Given the description of an element on the screen output the (x, y) to click on. 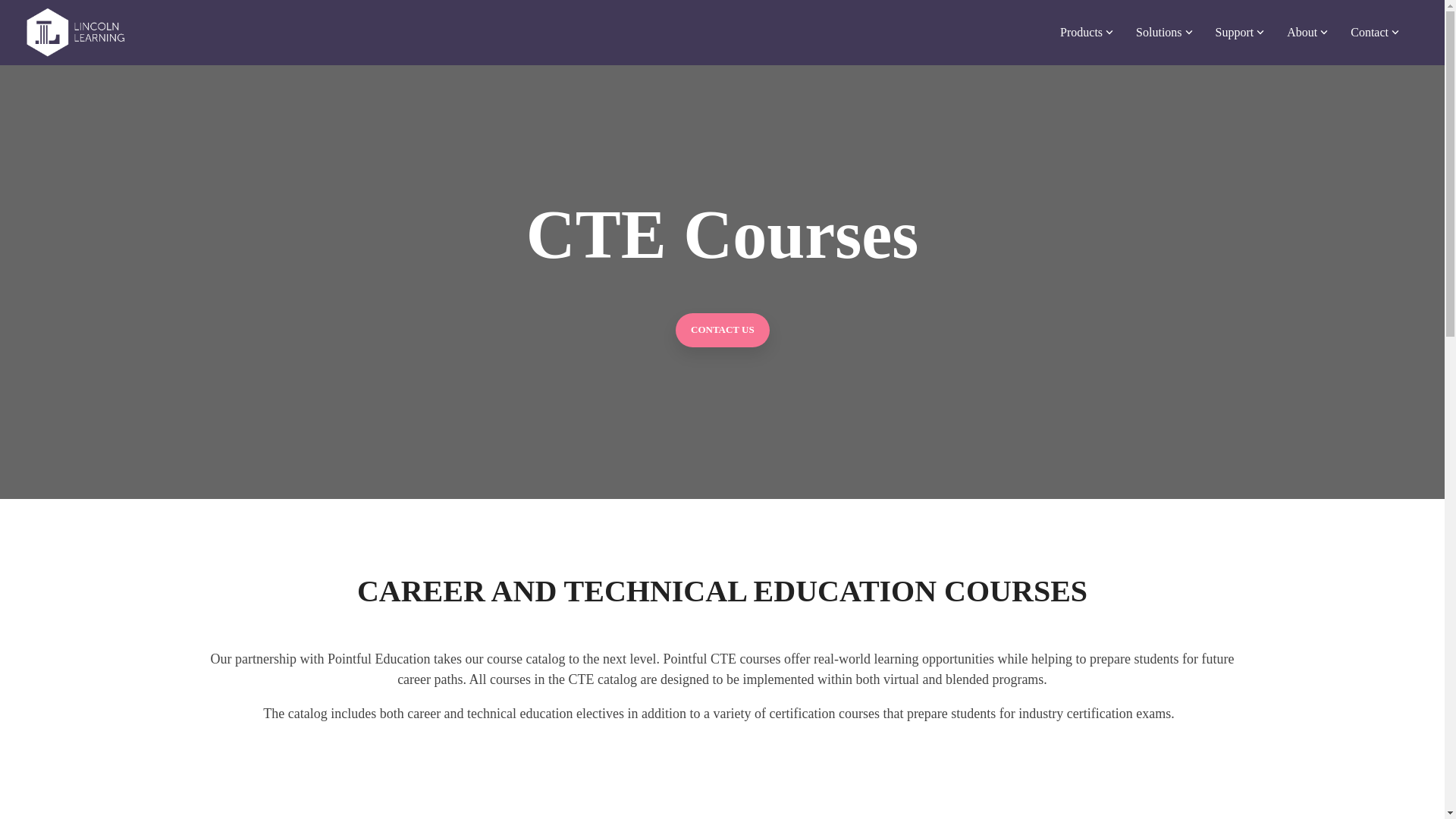
About (1307, 32)
Contact (1375, 32)
Solutions (1163, 32)
Support (1240, 32)
Products (1086, 32)
